Given the description of an element on the screen output the (x, y) to click on. 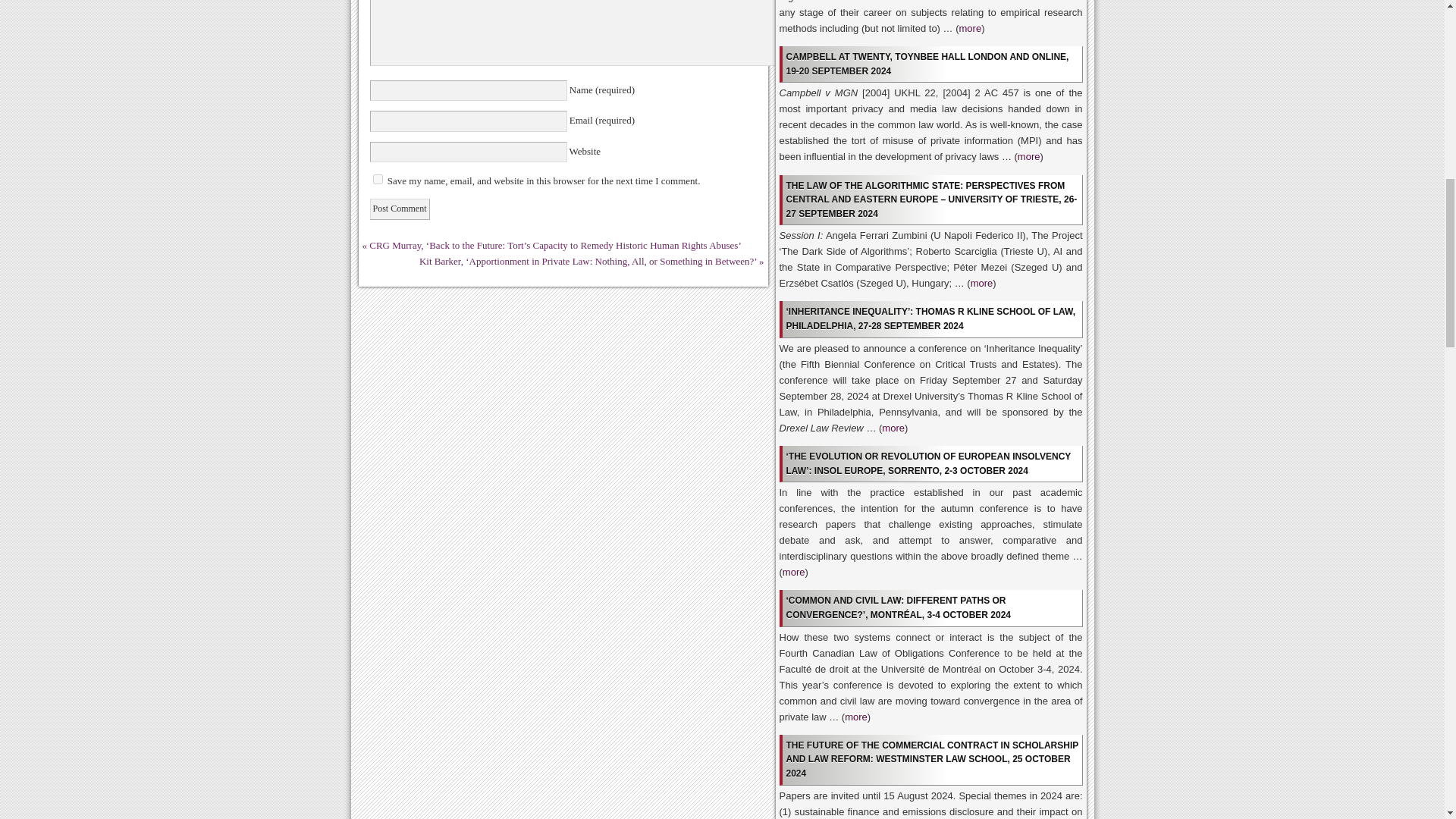
Post Comment (399, 209)
yes (377, 179)
